Given the description of an element on the screen output the (x, y) to click on. 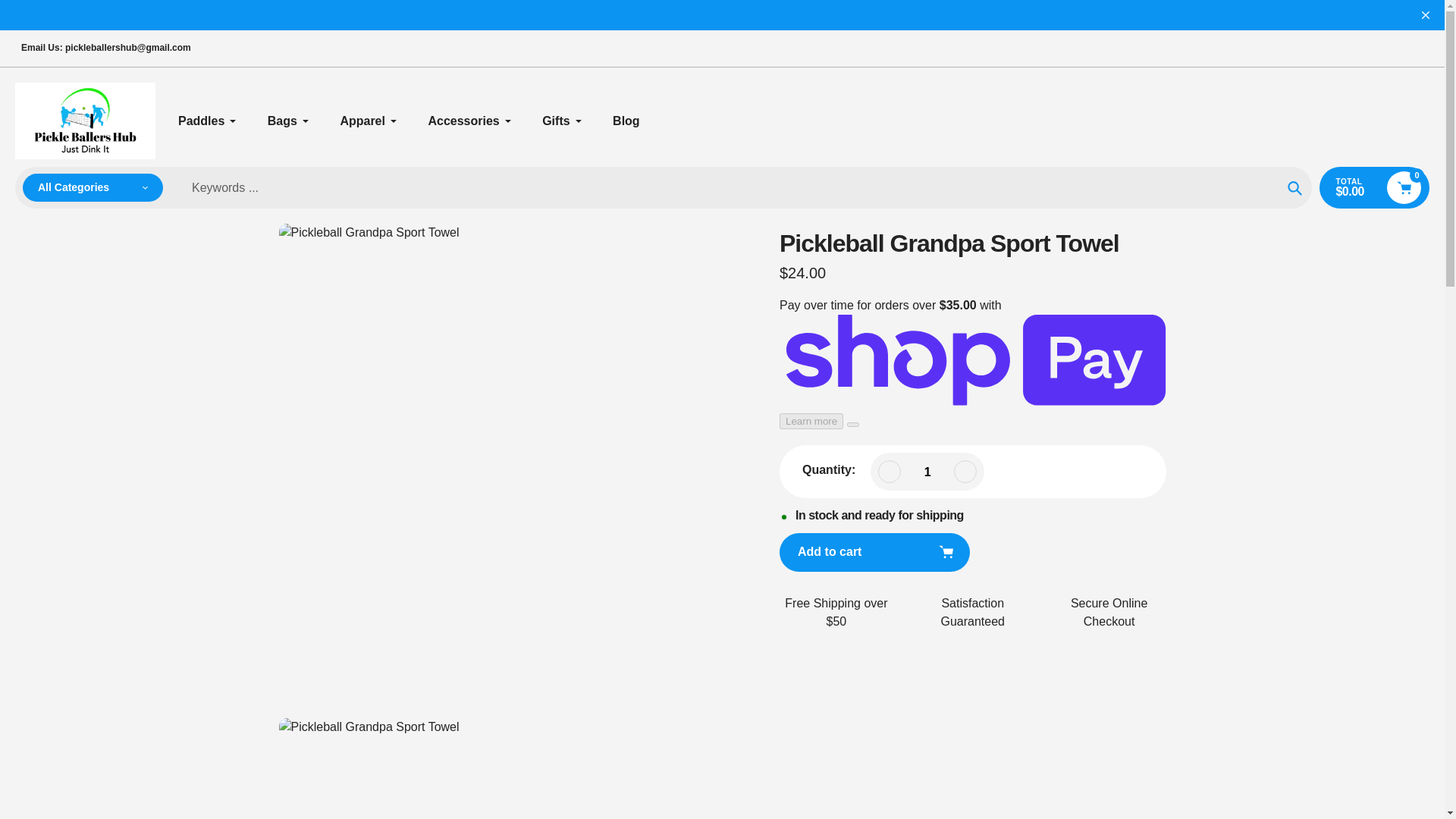
Bags (288, 121)
1 (927, 472)
Paddles (207, 121)
